Given the description of an element on the screen output the (x, y) to click on. 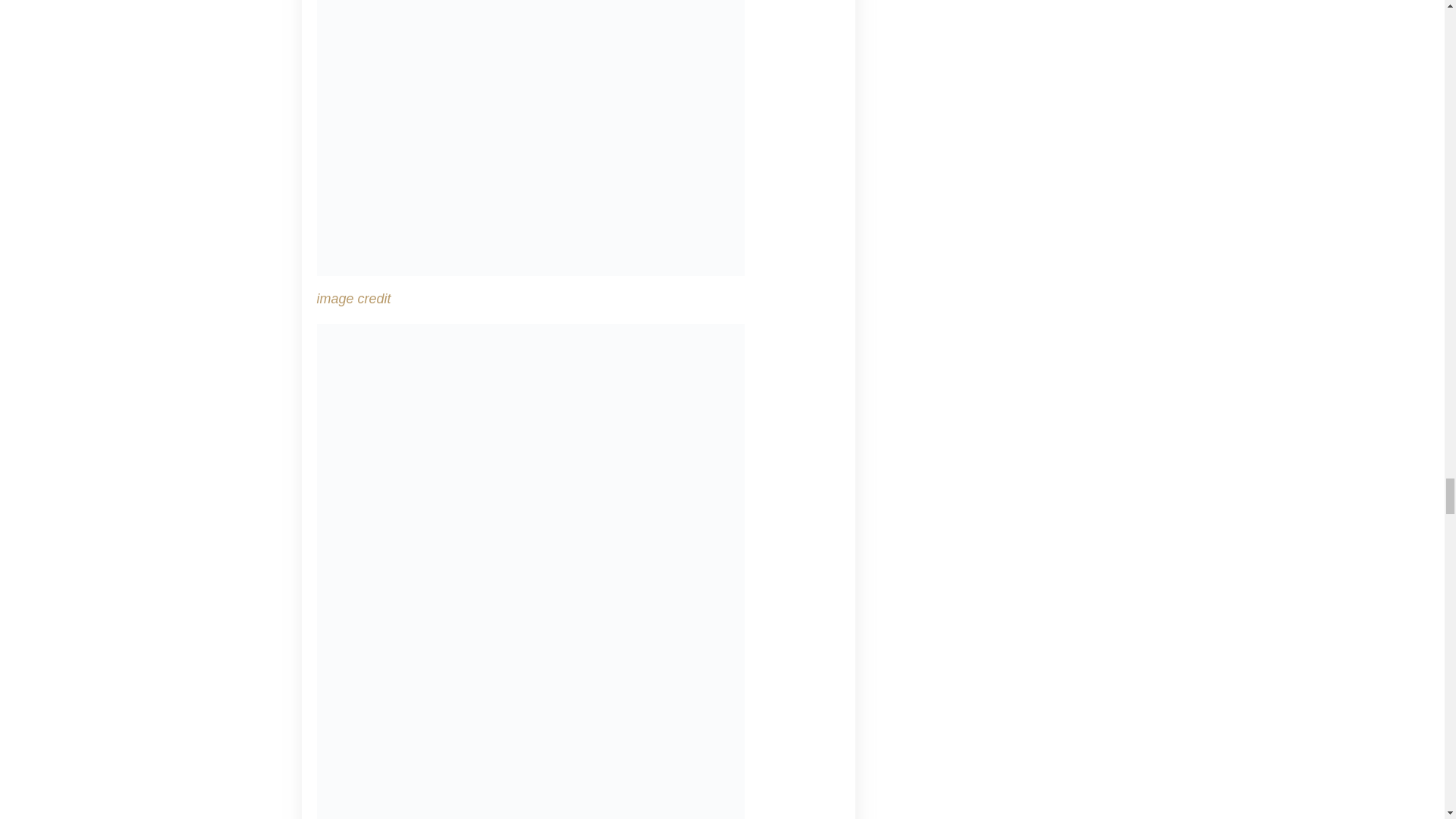
image credit (354, 298)
